Given the description of an element on the screen output the (x, y) to click on. 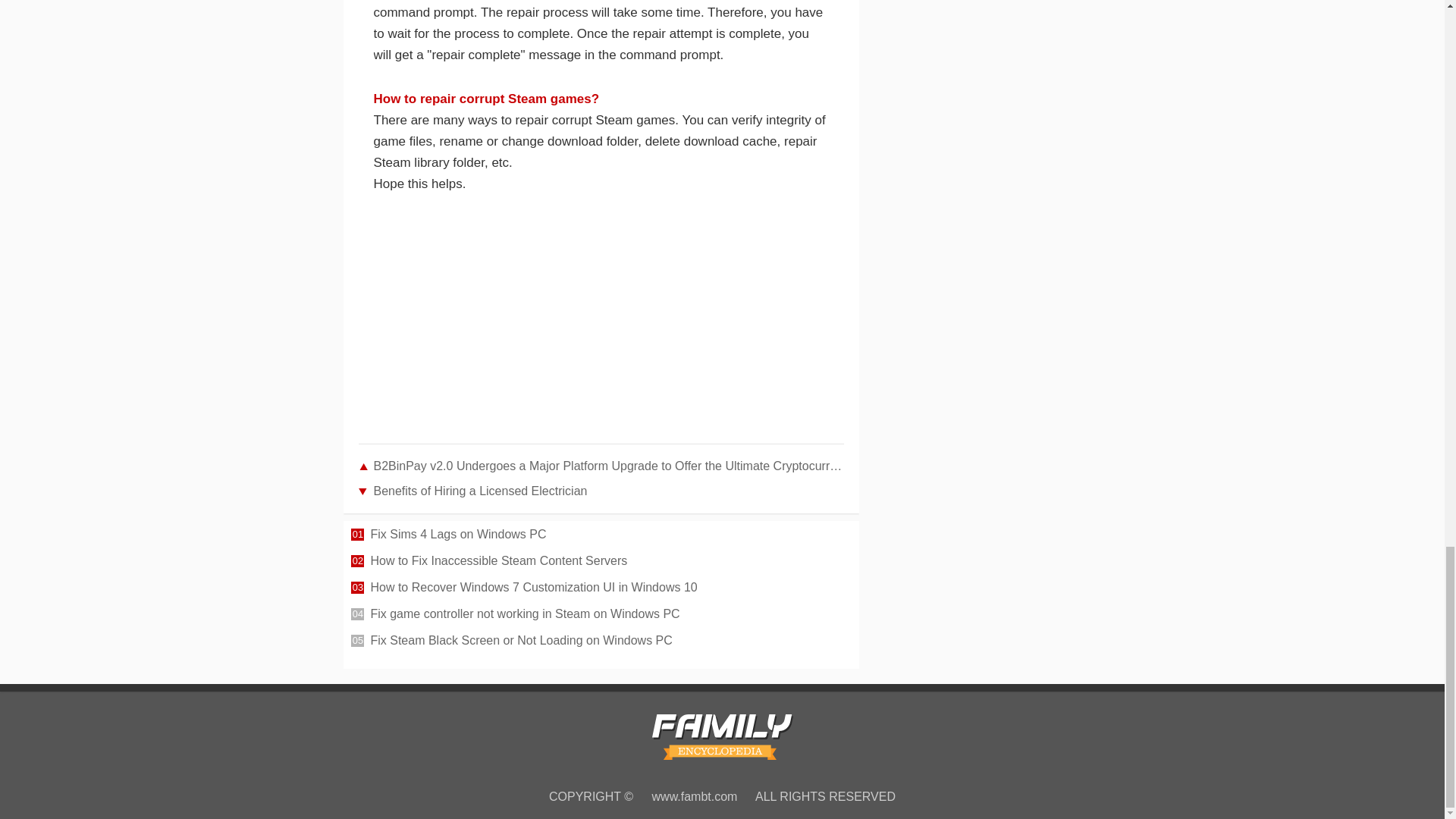
Fix Sims 4 Lags on Windows PC  (609, 535)
How to Fix Inaccessible Steam Content Servers  (609, 562)
Fix Steam Black Screen or Not Loading on Windows PC (609, 642)
Fix game controller not working in Steam on Windows PC  (609, 615)
Advertisement (600, 329)
How to Recover Windows 7 Customization UI in Windows 10  (609, 589)
Fix Sims 4 Lags on Windows PC (609, 535)
How to Fix Inaccessible Steam Content Servers (609, 562)
Fix Steam Black Screen or Not Loading on Windows PC  (609, 642)
How to Recover Windows 7 Customization UI in Windows 10 (609, 589)
Benefits of Hiring a Licensed Electrician (600, 490)
Fix game controller not working in Steam on Windows PC (609, 615)
www.fambt.com (695, 796)
